Given the description of an element on the screen output the (x, y) to click on. 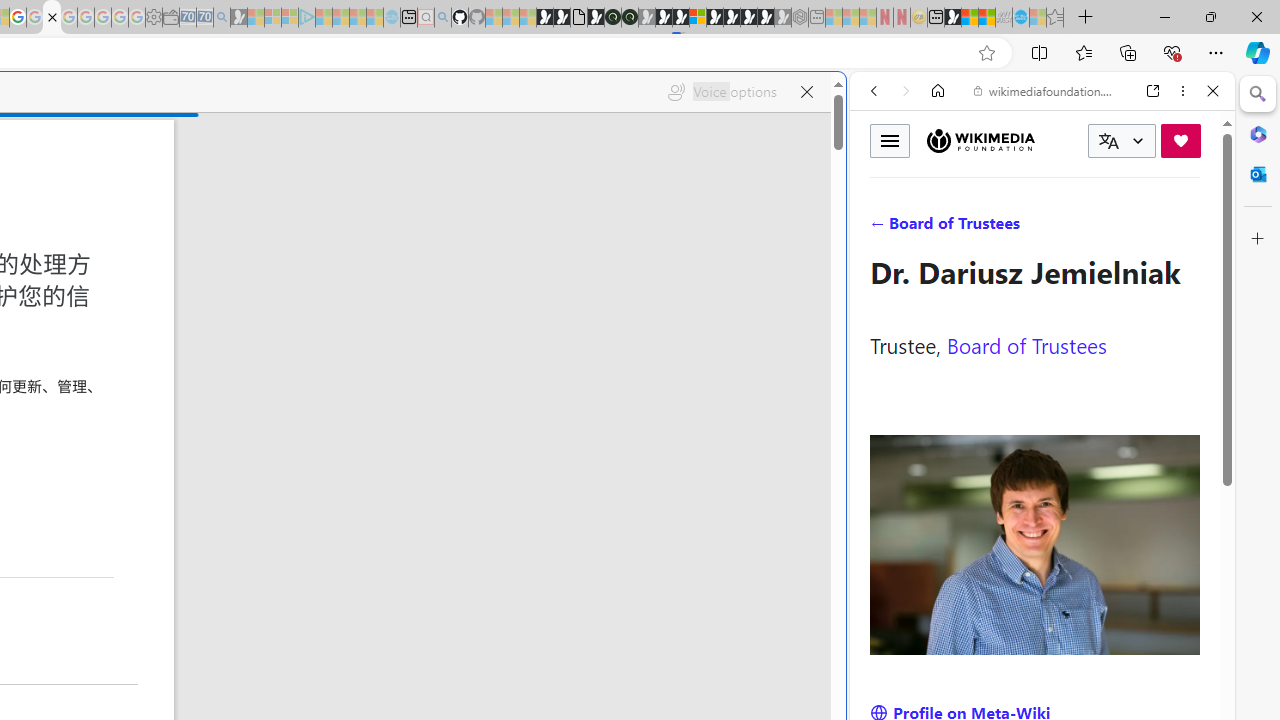
Play Cave FRVR in your browser | Games from Microsoft Start (663, 17)
Board of Trustees (1026, 344)
Services - Maintenance | Sky Blue Bikes - Sky Blue Bikes (1020, 17)
Future Focus Report 2024 (629, 17)
